Given the description of an element on the screen output the (x, y) to click on. 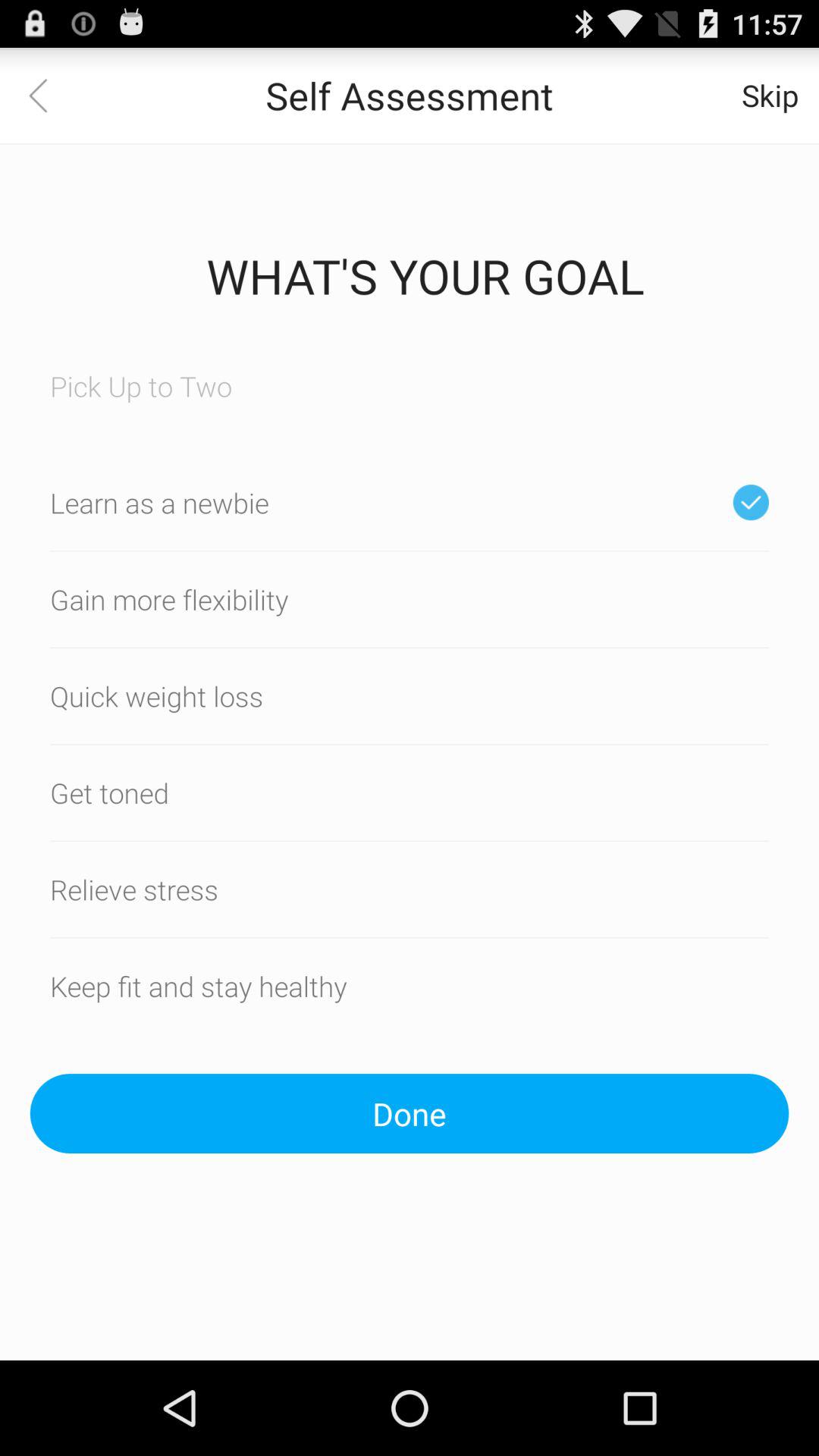
go to relieve stress (409, 889)
select a option gain more flexibilty (409, 599)
select the text which is above done (409, 986)
go to done (409, 1113)
